Given the description of an element on the screen output the (x, y) to click on. 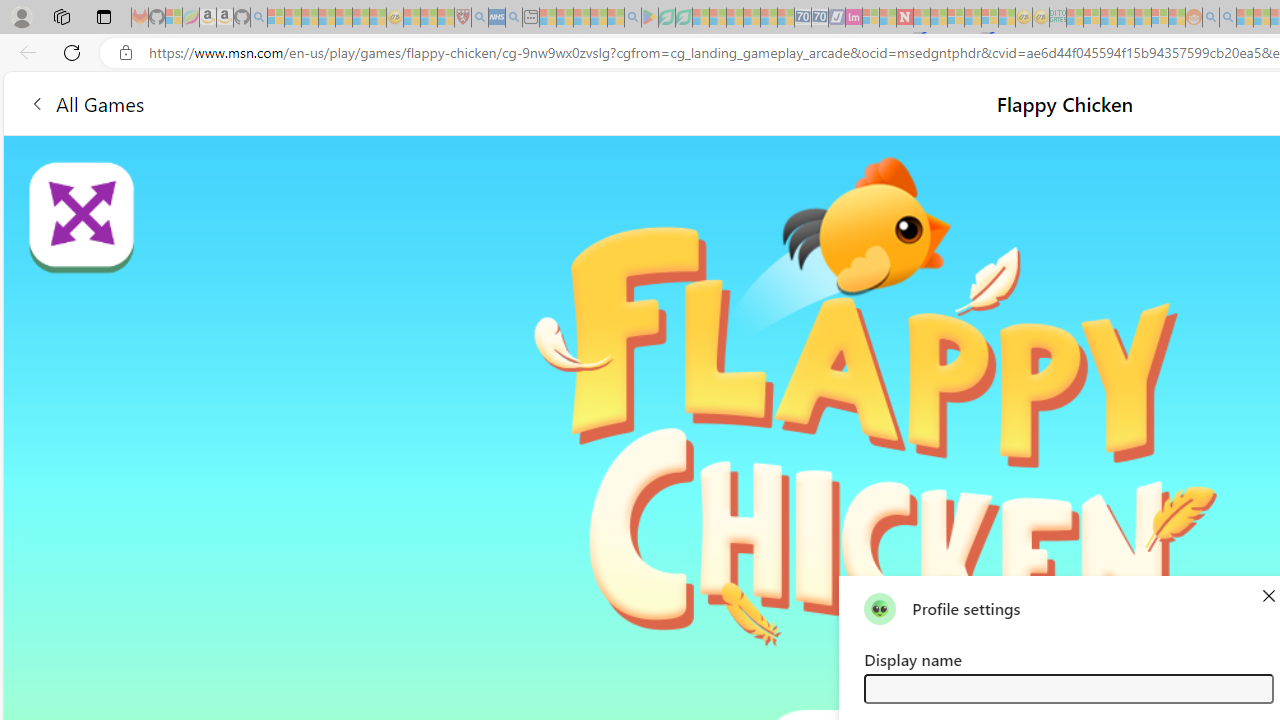
Local - MSN - Sleeping (445, 17)
All Games (373, 102)
google - Search - Sleeping (632, 17)
Jobs - lastminute.com Investor Portal - Sleeping (853, 17)
Bluey: Let's Play! - Apps on Google Play - Sleeping (649, 17)
